Given the description of an element on the screen output the (x, y) to click on. 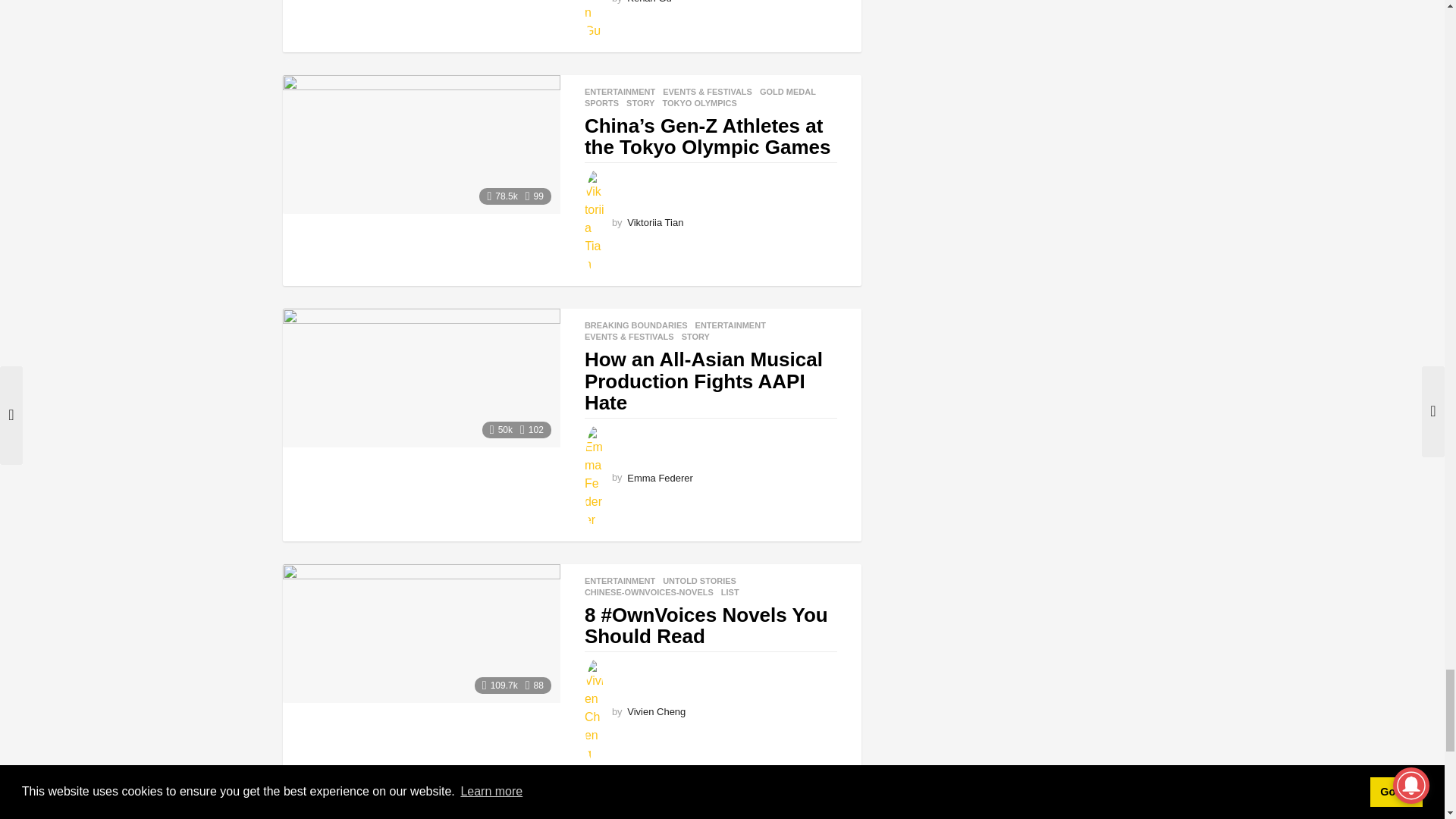
Chinese Fighter Zhang Weili Fights Racism at UFC 248 (420, 808)
How an All-Asian Musical Production Fights AAPI Hate (420, 377)
